Given the description of an element on the screen output the (x, y) to click on. 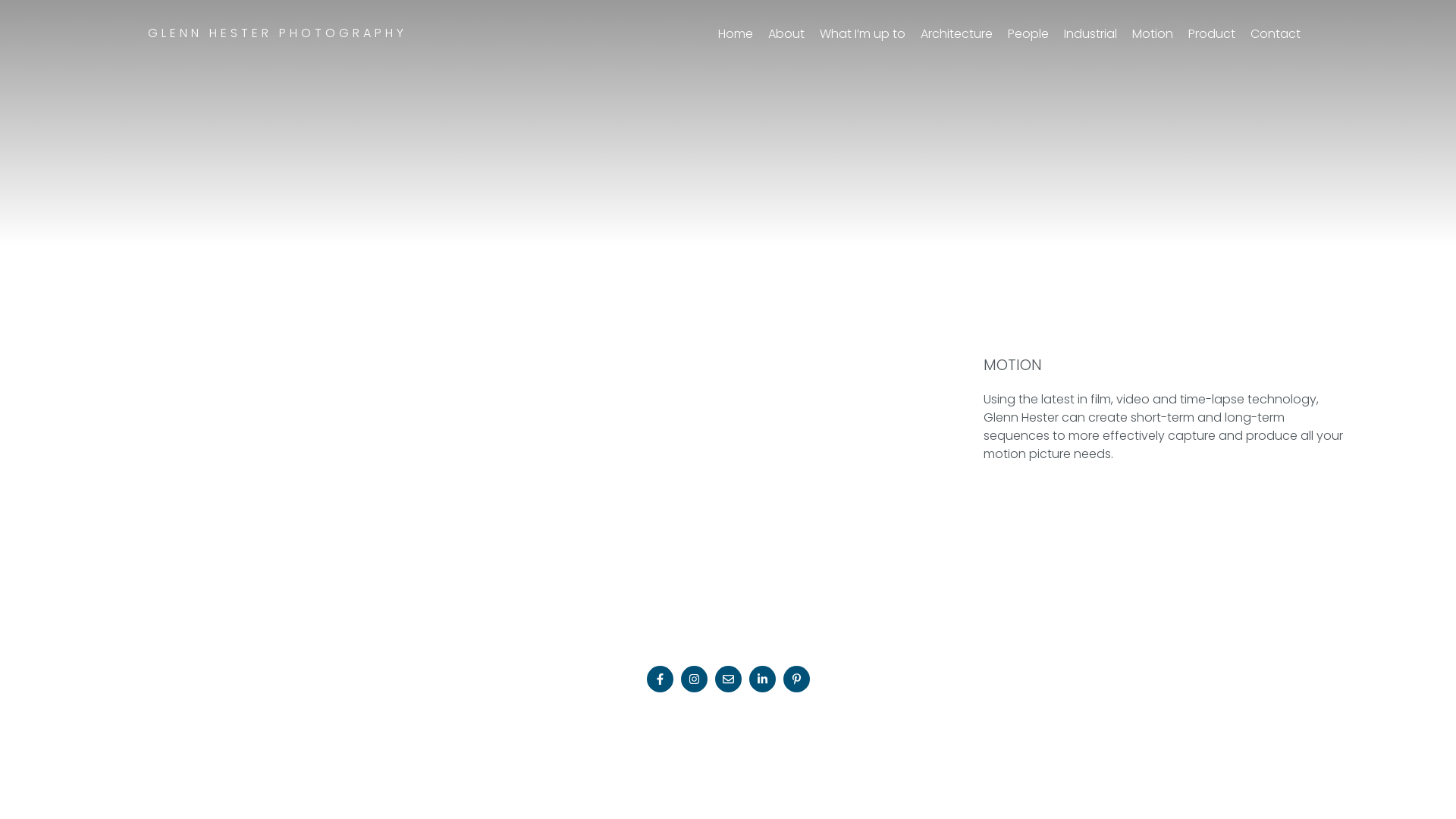
Architecture Element type: text (956, 33)
CP_UWS_FINALCUT Element type: hover (478, 352)
Industrial Element type: text (1090, 33)
Contact Element type: text (1275, 33)
Motion Element type: text (1152, 33)
Home Element type: text (735, 33)
About Element type: text (786, 33)
Product Element type: text (1211, 33)
People Element type: text (1027, 33)
GLENN HESTER PHOTOGRAPHY Element type: text (277, 32)
